Given the description of an element on the screen output the (x, y) to click on. 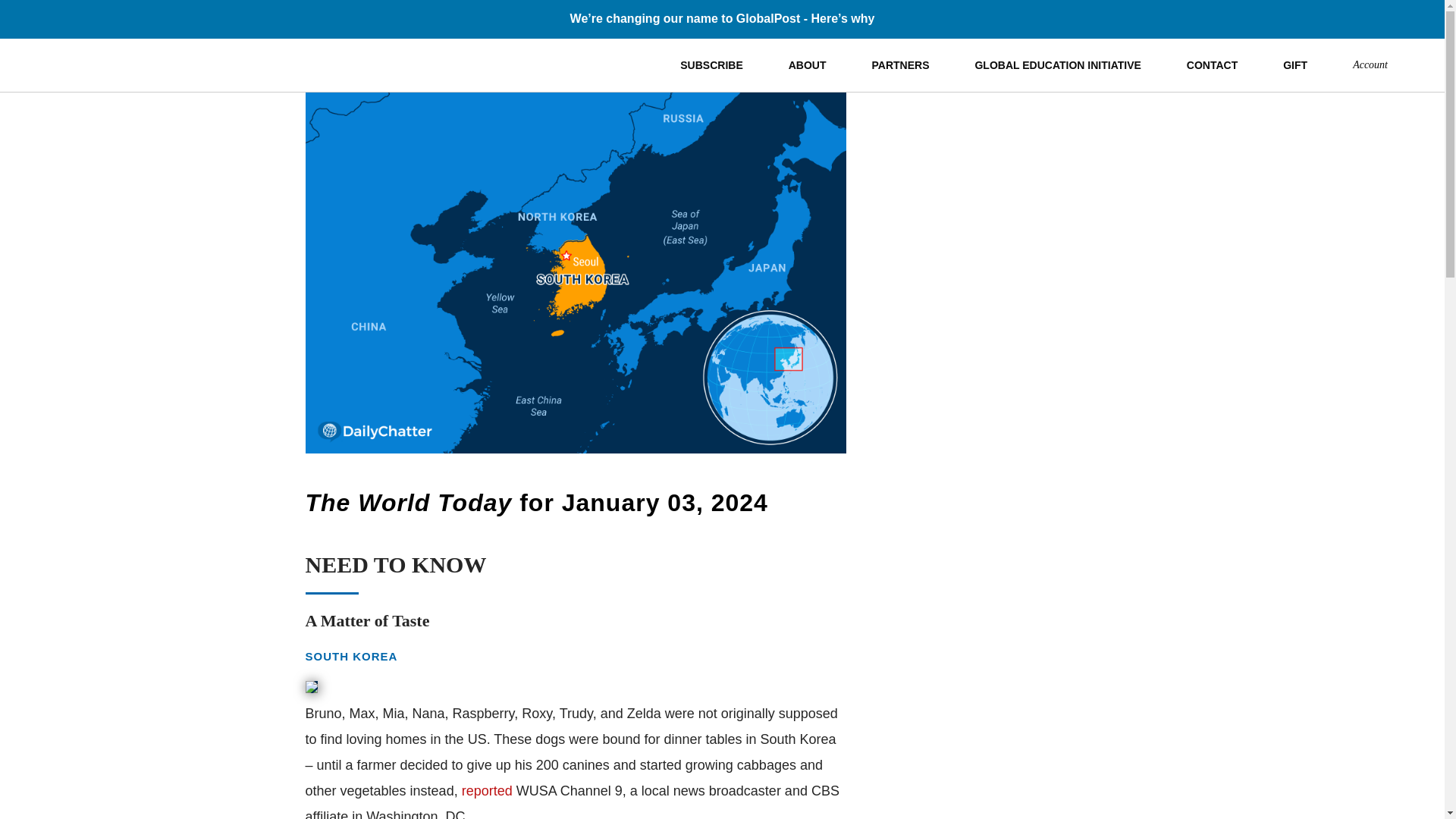
ABOUT (806, 64)
CONTACT (1211, 64)
SUBSCRIBE (711, 64)
Account (1370, 64)
GLOBAL EDUCATION INITIATIVE (1057, 64)
PARTNERS (900, 64)
GIFT (1295, 64)
reported (486, 790)
